Given the description of an element on the screen output the (x, y) to click on. 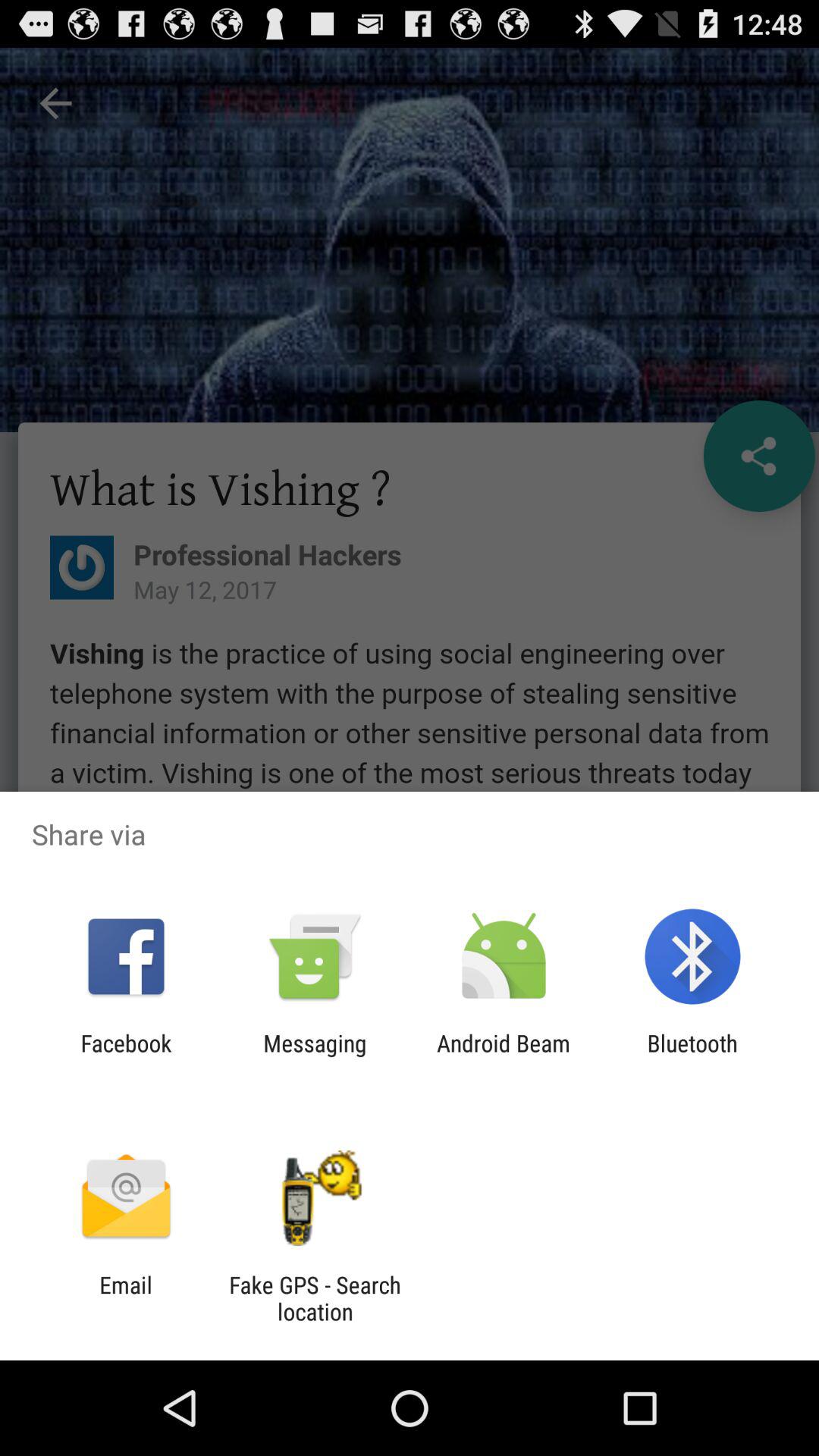
tap icon next to fake gps search app (125, 1298)
